Given the description of an element on the screen output the (x, y) to click on. 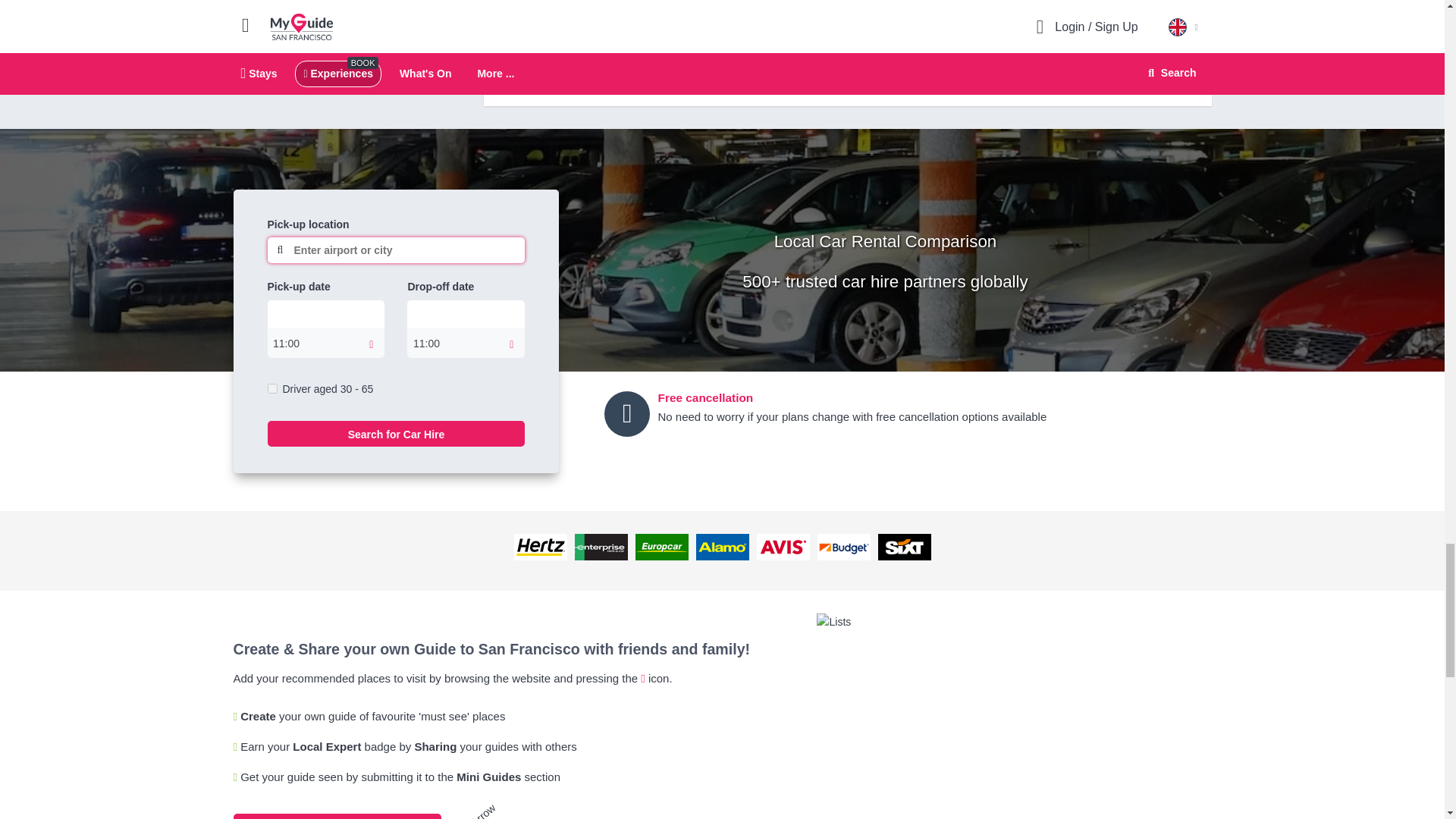
on (271, 388)
